Given the description of an element on the screen output the (x, y) to click on. 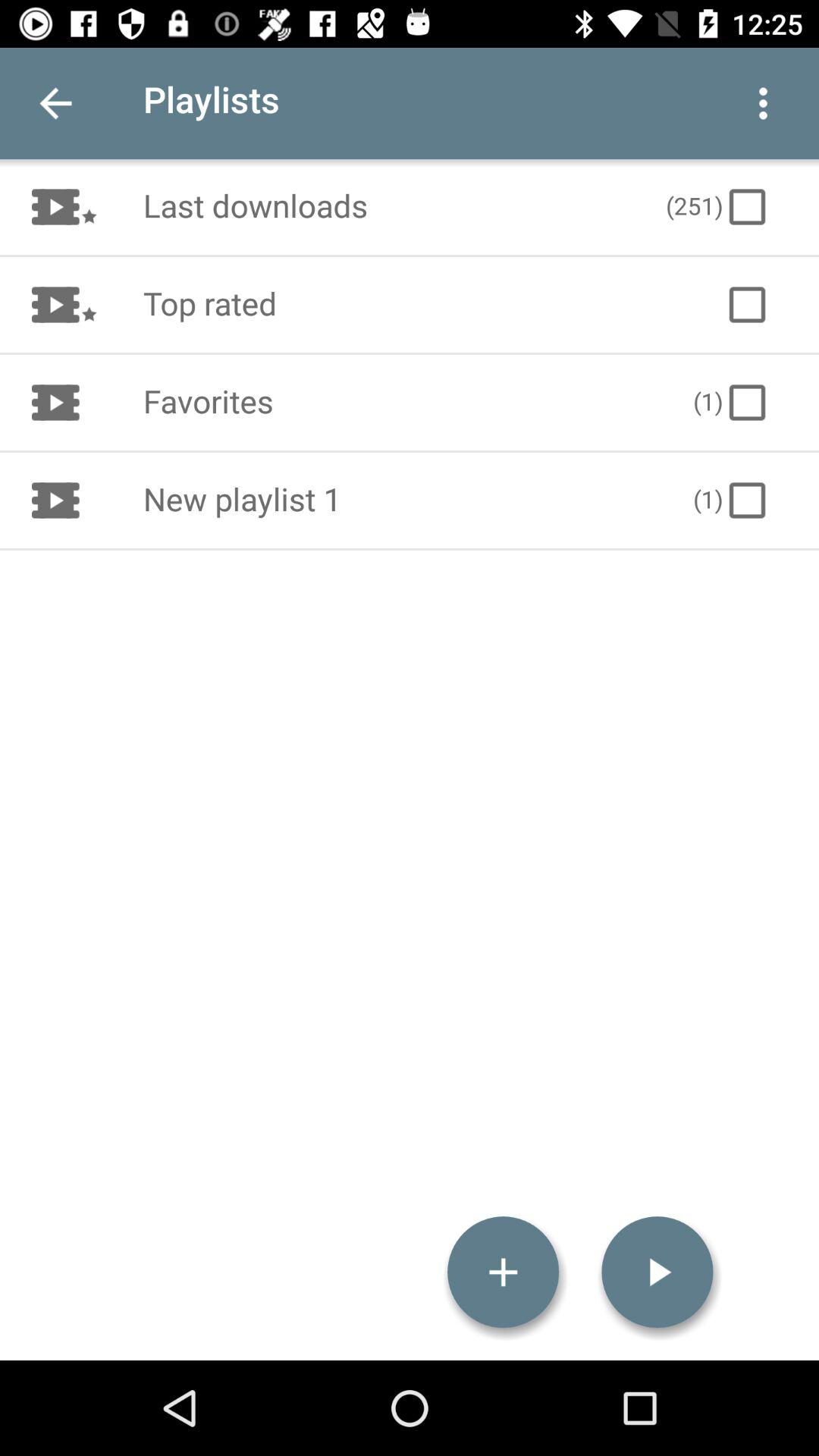
click the icon to the right of last downloads (718, 206)
